Given the description of an element on the screen output the (x, y) to click on. 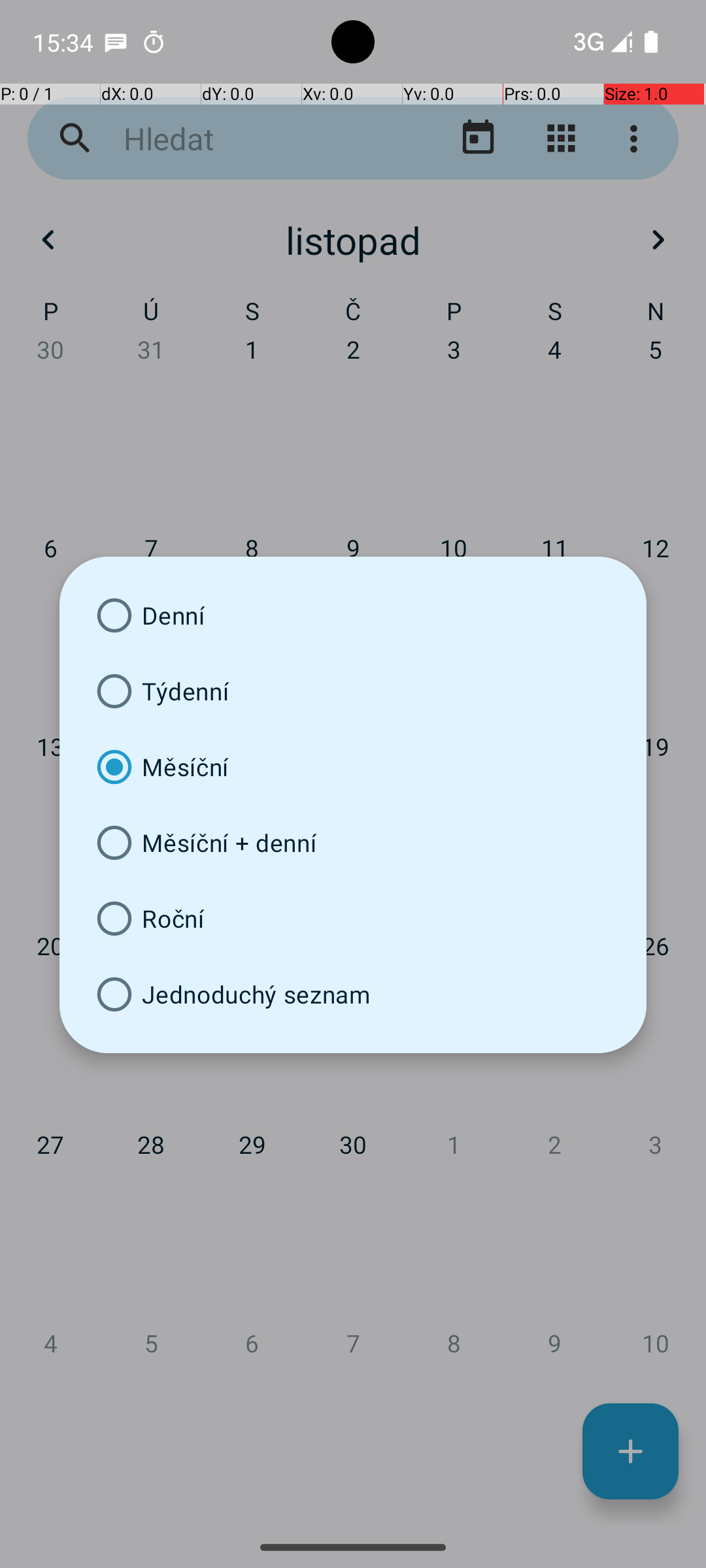
Denní Element type: android.widget.RadioButton (352, 615)
Týdenní Element type: android.widget.RadioButton (352, 691)
Měsíční Element type: android.widget.RadioButton (352, 766)
Měsíční + denní Element type: android.widget.RadioButton (352, 842)
Roční Element type: android.widget.RadioButton (352, 918)
Jednoduchý seznam Element type: android.widget.RadioButton (352, 994)
SMS Messenger notification: +17247648679 Element type: android.widget.ImageView (115, 41)
